Given the description of an element on the screen output the (x, y) to click on. 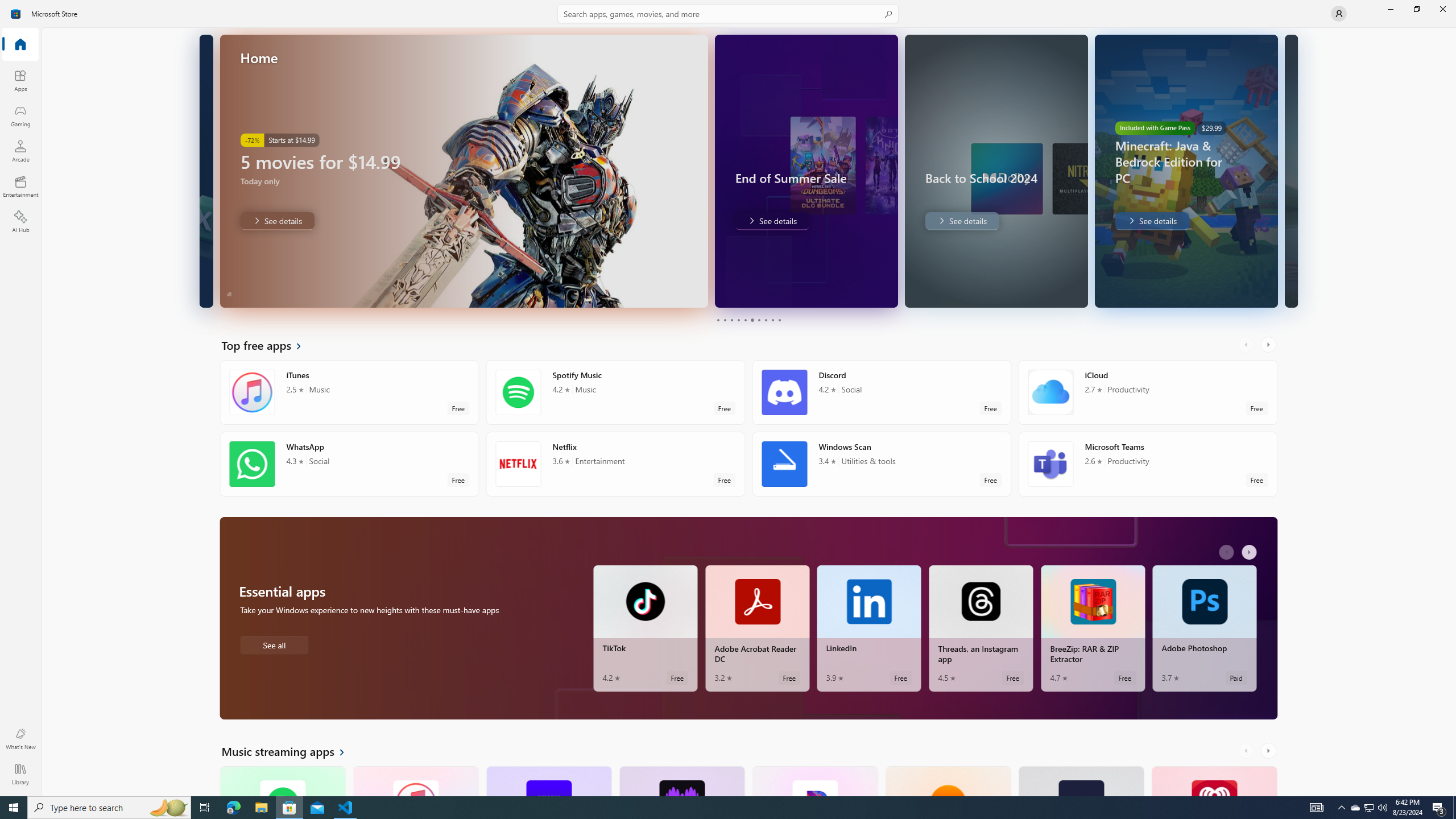
AutomationID: NavigationControl (728, 398)
Netflix. Average rating of 3.6 out of five stars. Free   (615, 463)
AutomationID: Image (1290, 170)
Discord. Average rating of 4.2 out of five stars. Free   (881, 392)
Page 4 (738, 319)
TikTok. Average rating of 4.2 out of five stars. Free   (644, 628)
See all  Essential apps (274, 644)
Page 3 (731, 319)
Library (20, 773)
Page 5 (744, 319)
AutomationID: LeftScrollButton (1246, 750)
See all  Top free apps (268, 345)
Class: Image (15, 13)
